Given the description of an element on the screen output the (x, y) to click on. 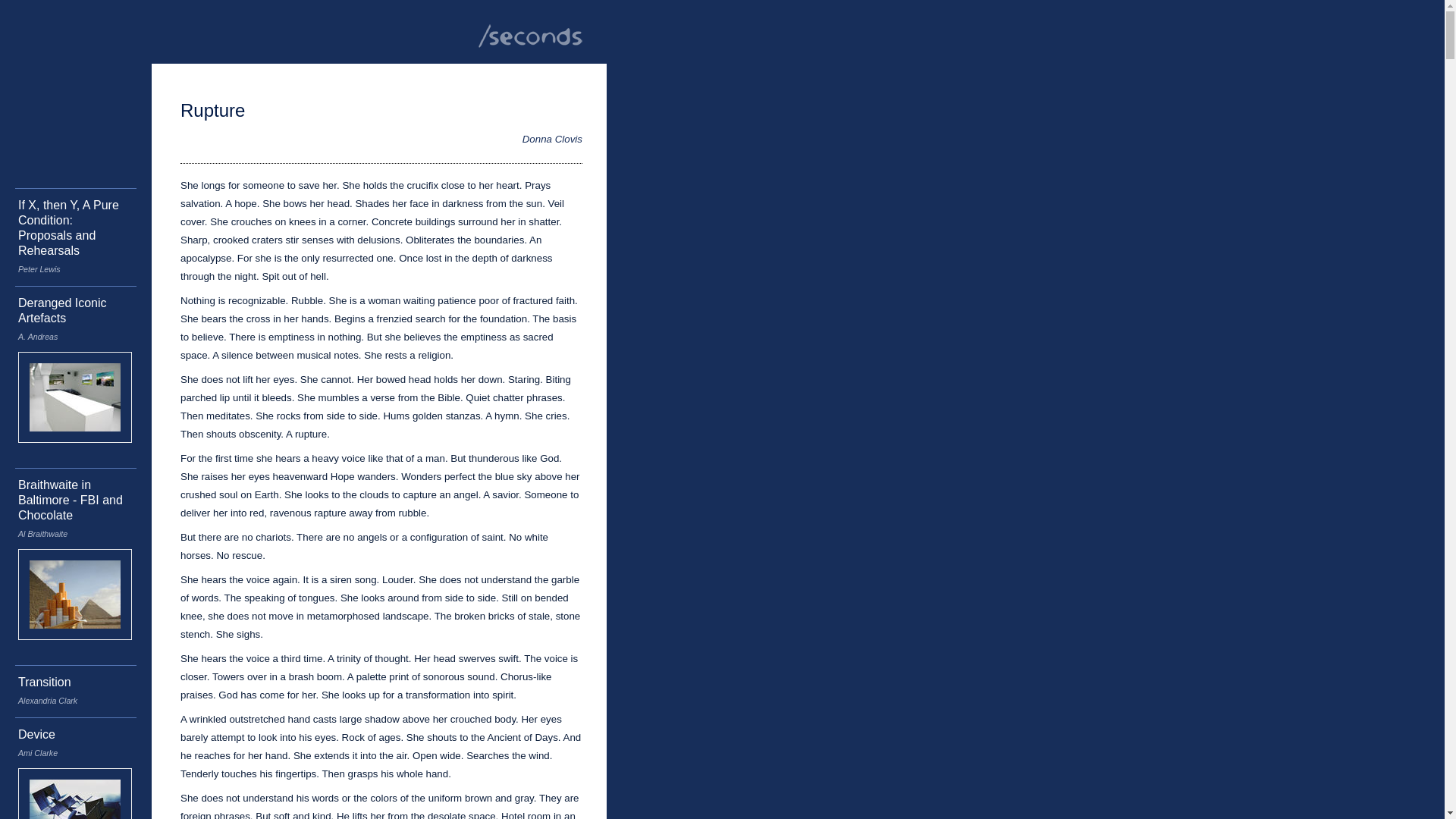
Deranged Iconic Artefacts (60, 309)
Braithwaite in Baltimore - FBI and Chocolate (68, 499)
Device (36, 734)
If X, then Y, A Pure Condition:  Proposals and Rehearsals (66, 227)
Transition (44, 682)
